Given the description of an element on the screen output the (x, y) to click on. 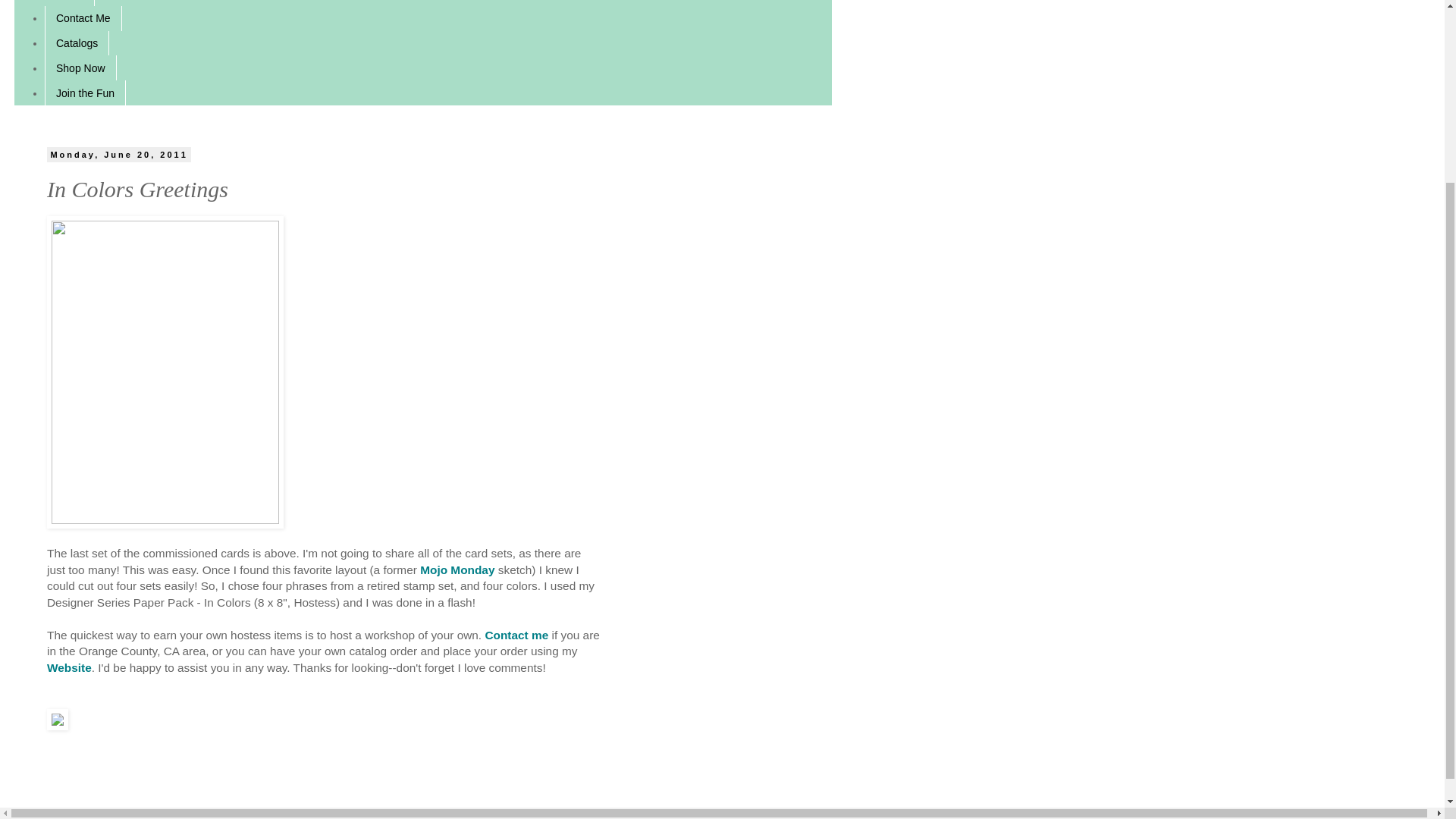
Home (69, 2)
Contact Me (83, 18)
Join the Fun (85, 92)
Website (68, 667)
Catalogs (77, 43)
Mojo Monday (457, 569)
Shop Now (80, 67)
Contact me (516, 634)
